Given the description of an element on the screen output the (x, y) to click on. 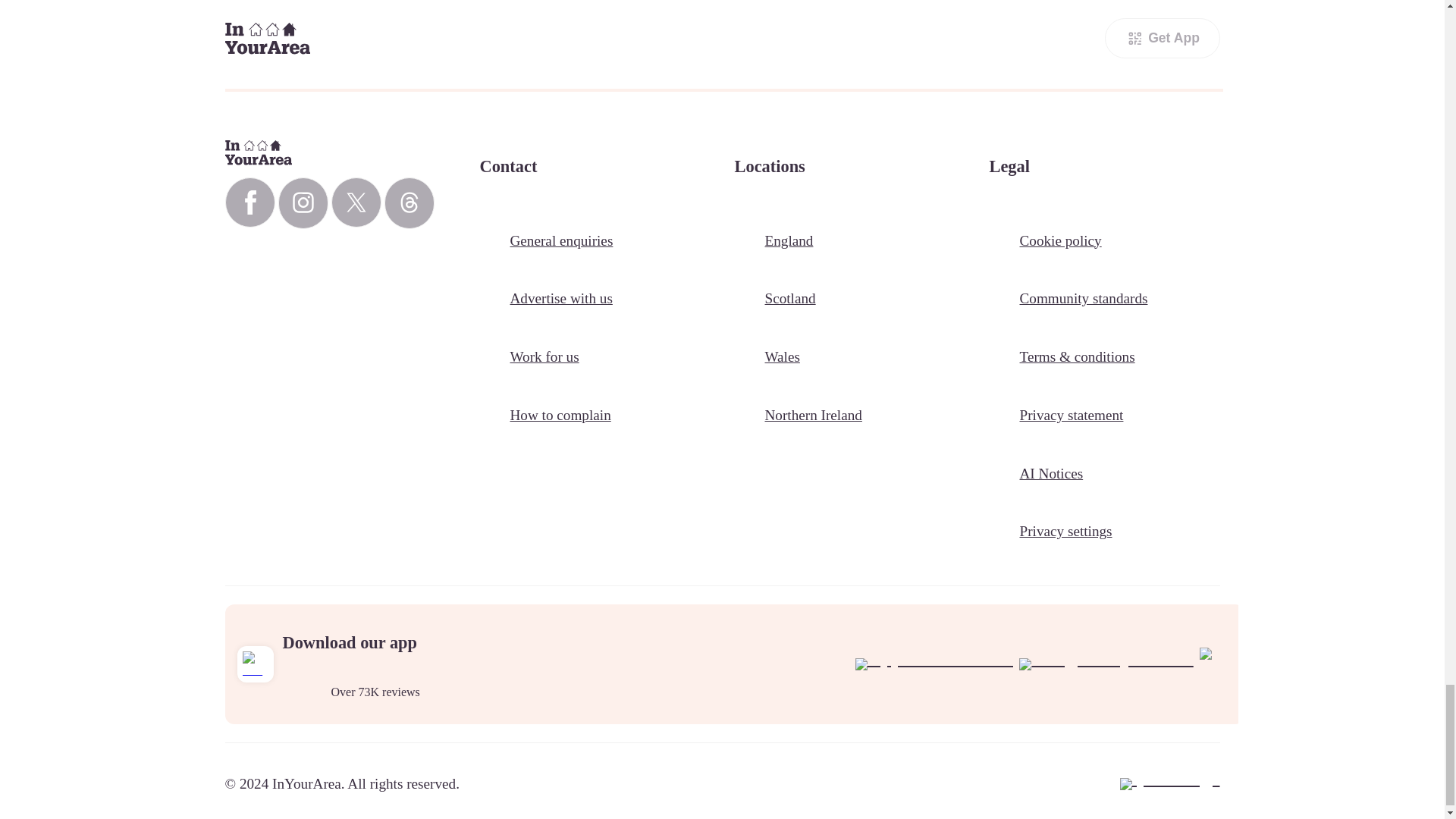
InYourArea Threads (408, 203)
InYourArea Instagram (302, 203)
InYourArea X (355, 202)
InYourArea Facebook (249, 202)
